Given the description of an element on the screen output the (x, y) to click on. 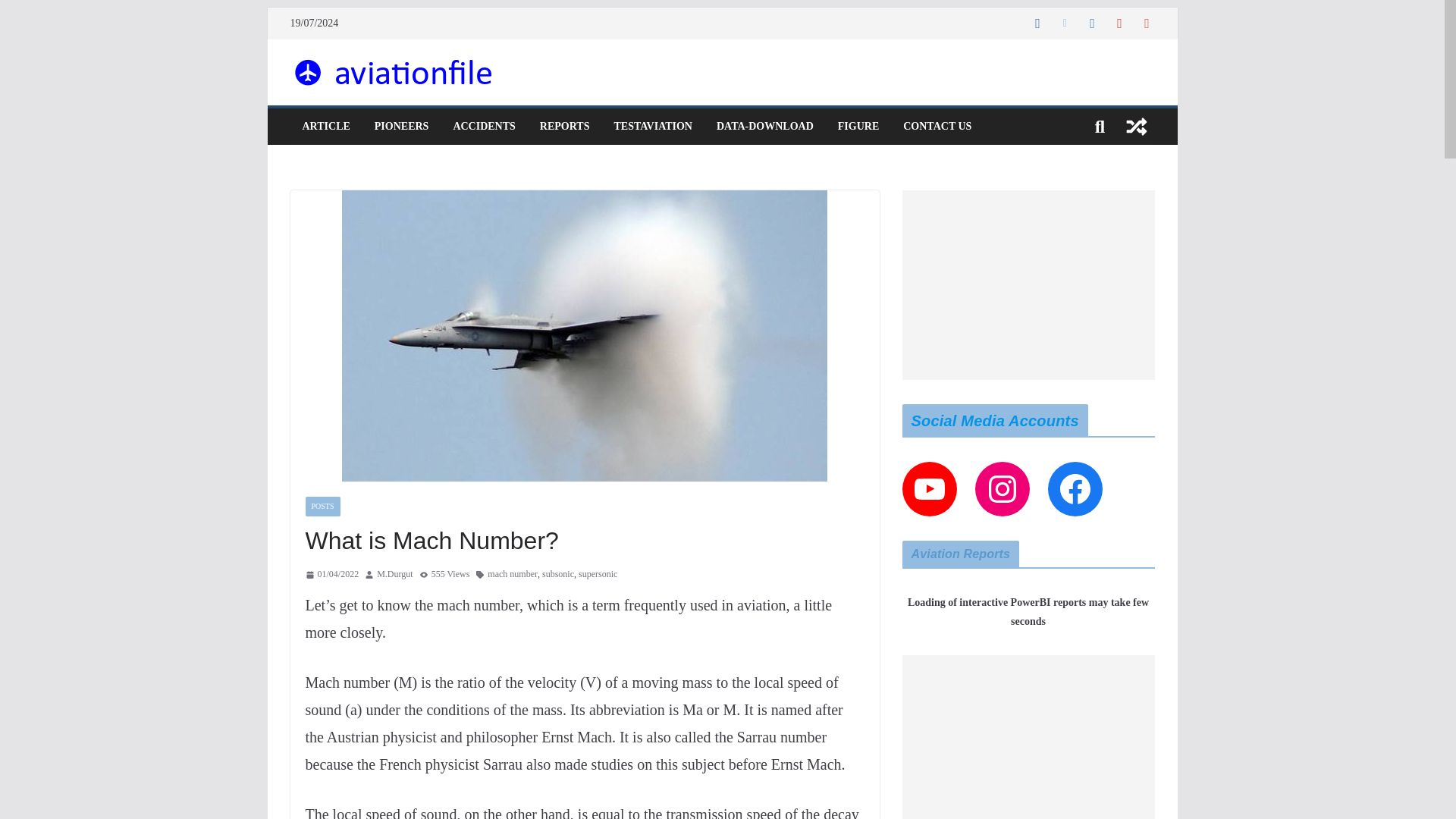
ACCIDENTS (483, 126)
REPORTS (564, 126)
PIONEERS (401, 126)
DATA-DOWNLOAD (764, 126)
ARTICLE (325, 126)
supersonic (597, 574)
M.Durgut (394, 574)
subsonic (557, 574)
View a random post (1136, 126)
M.Durgut (394, 574)
mach number (512, 574)
POSTS (321, 506)
FIGURE (858, 126)
08:31 (331, 574)
